Given the description of an element on the screen output the (x, y) to click on. 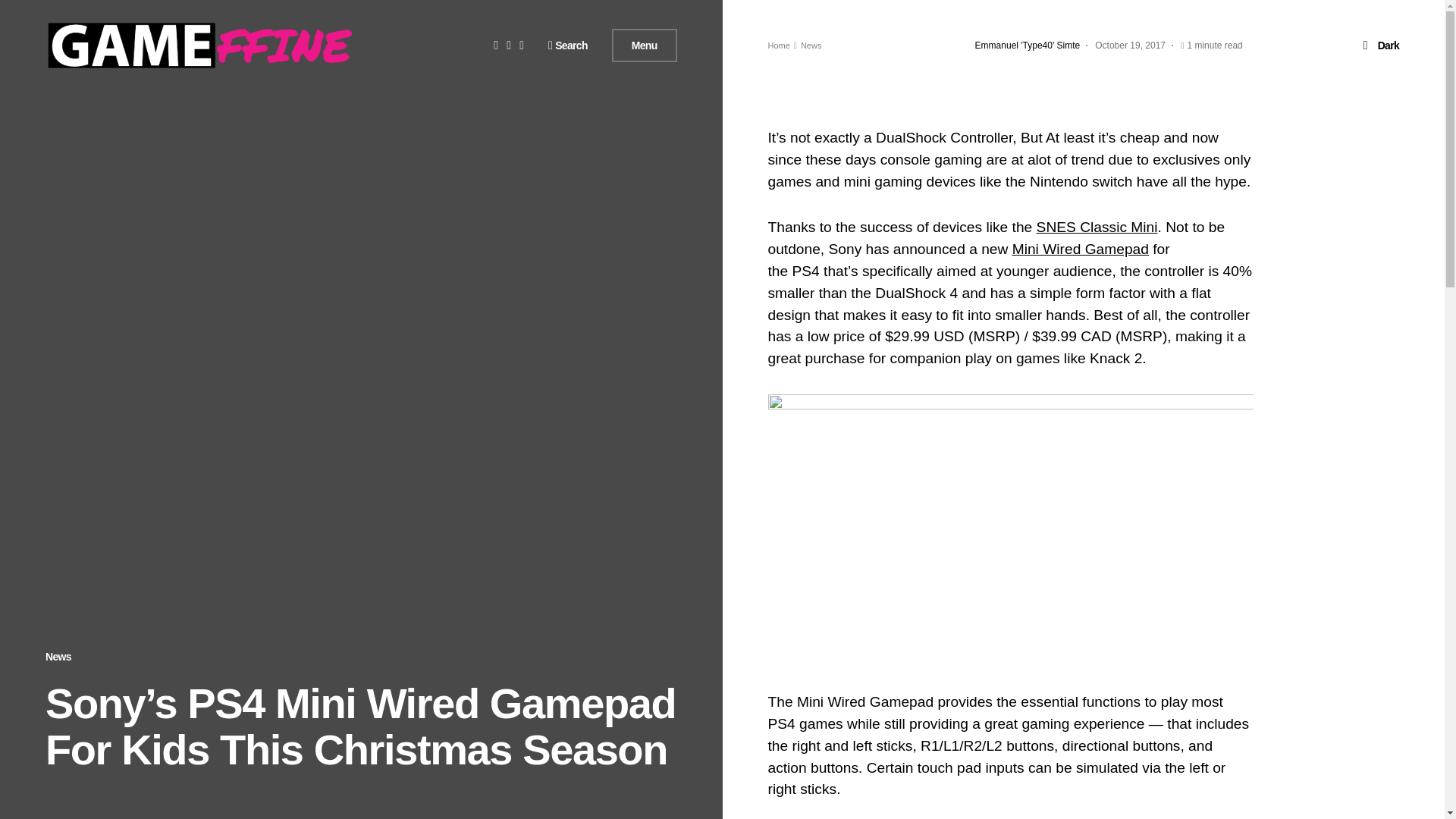
View all posts by Emmanuel 'Type40' Simte (1027, 45)
News (58, 656)
